Given the description of an element on the screen output the (x, y) to click on. 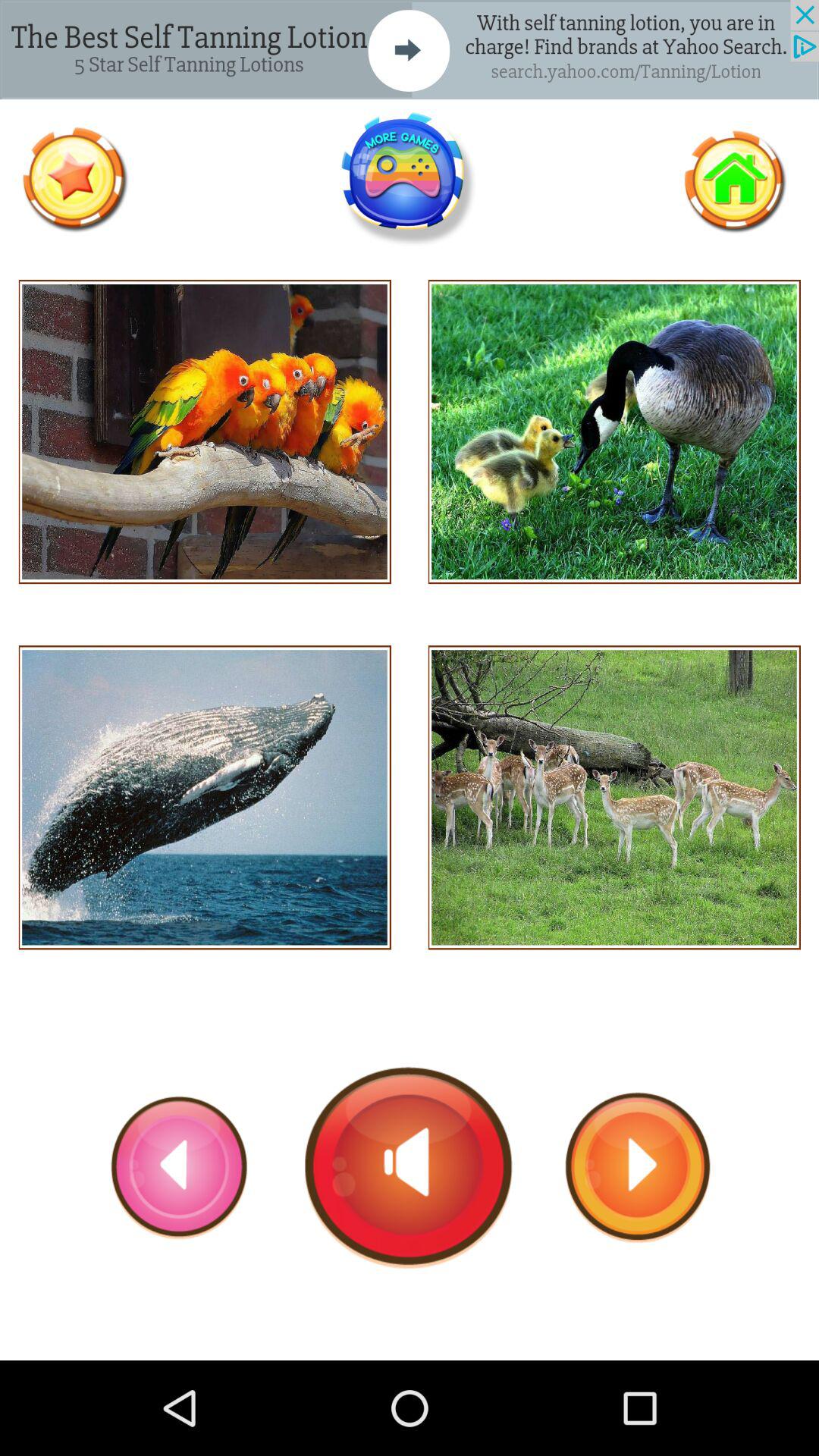
go to next page (637, 1166)
